Given the description of an element on the screen output the (x, y) to click on. 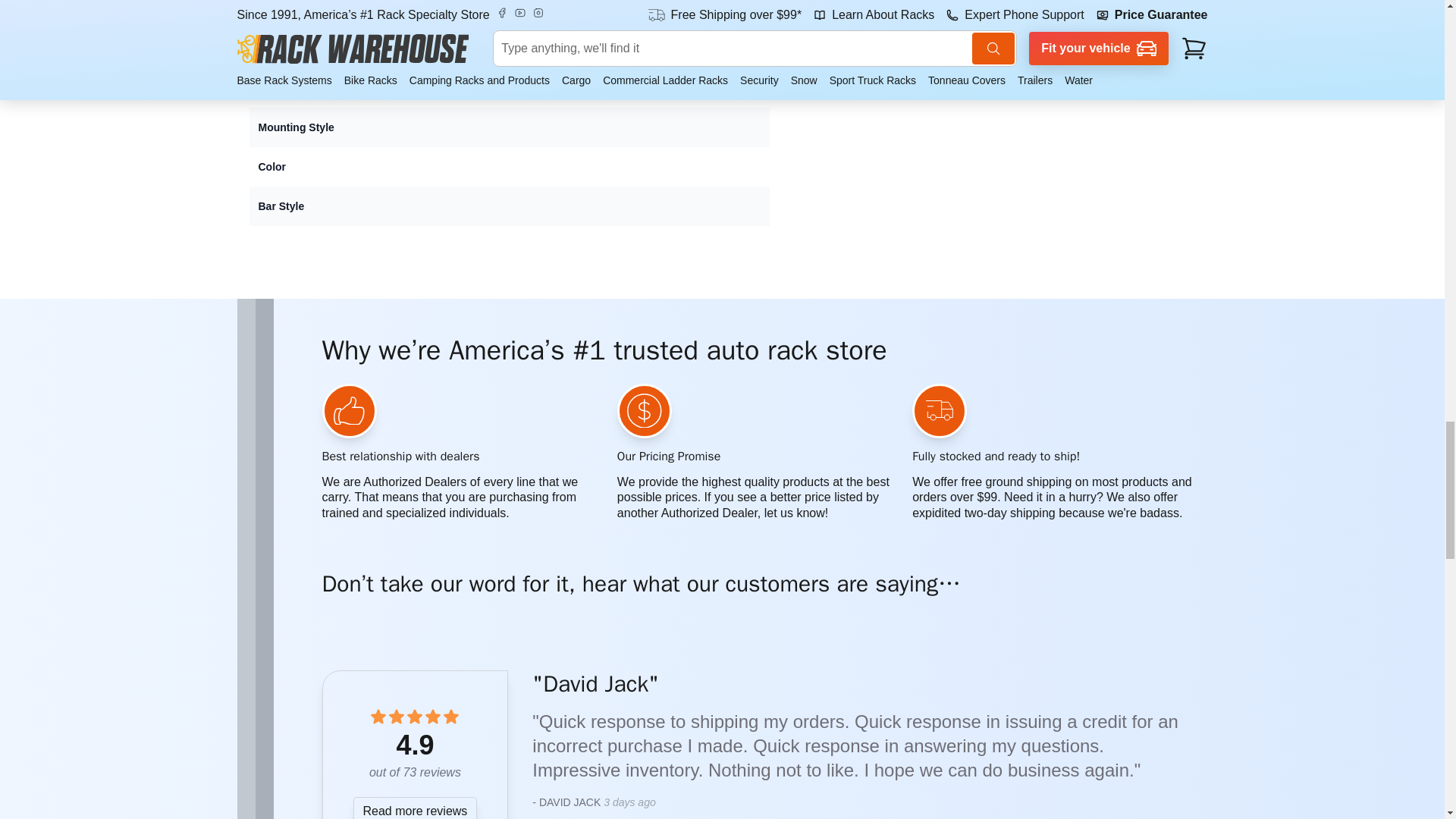
Read more reviews (415, 801)
